Given the description of an element on the screen output the (x, y) to click on. 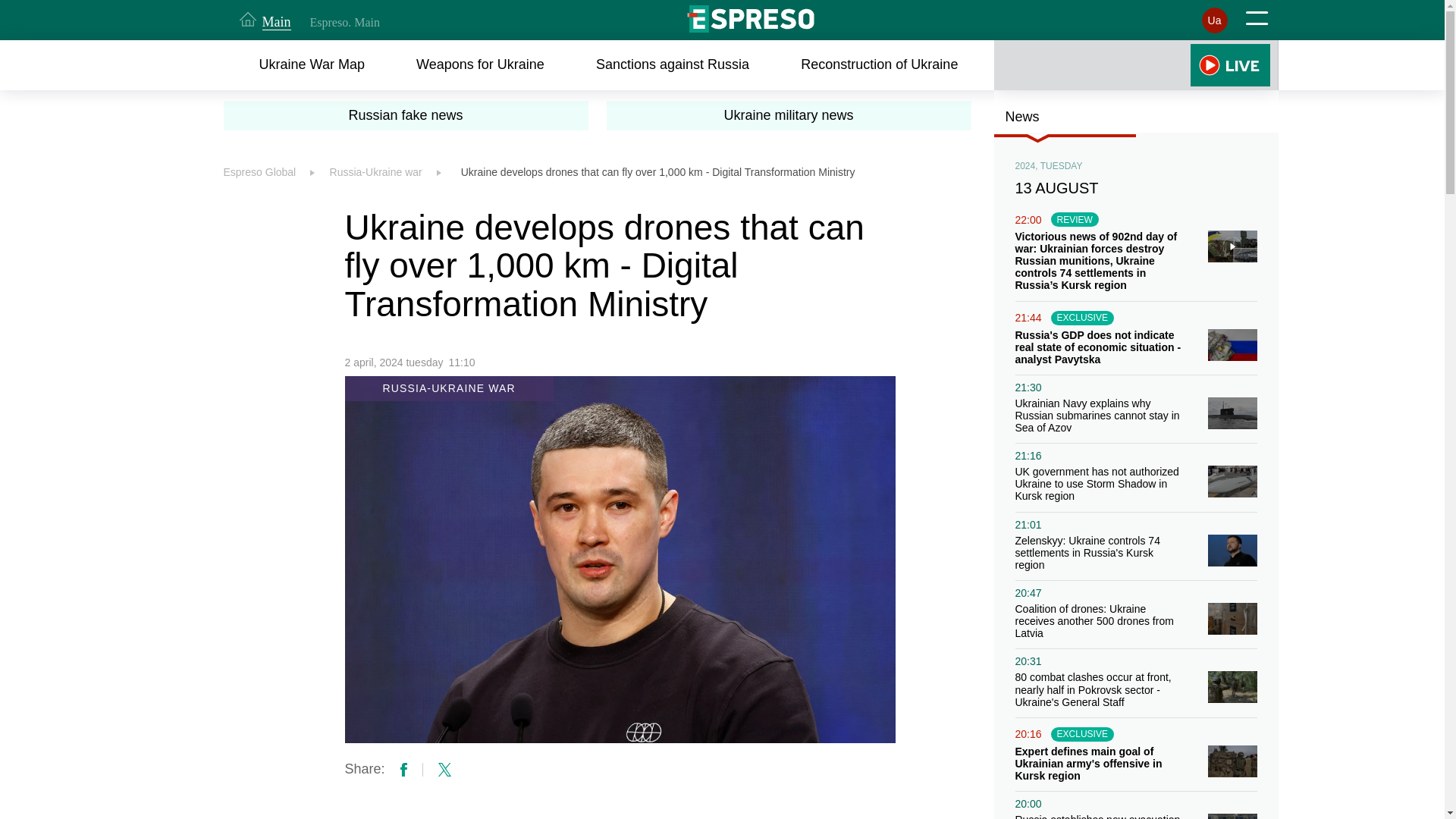
Ua (1214, 20)
Espreso. Main (343, 22)
Main (265, 19)
